Given the description of an element on the screen output the (x, y) to click on. 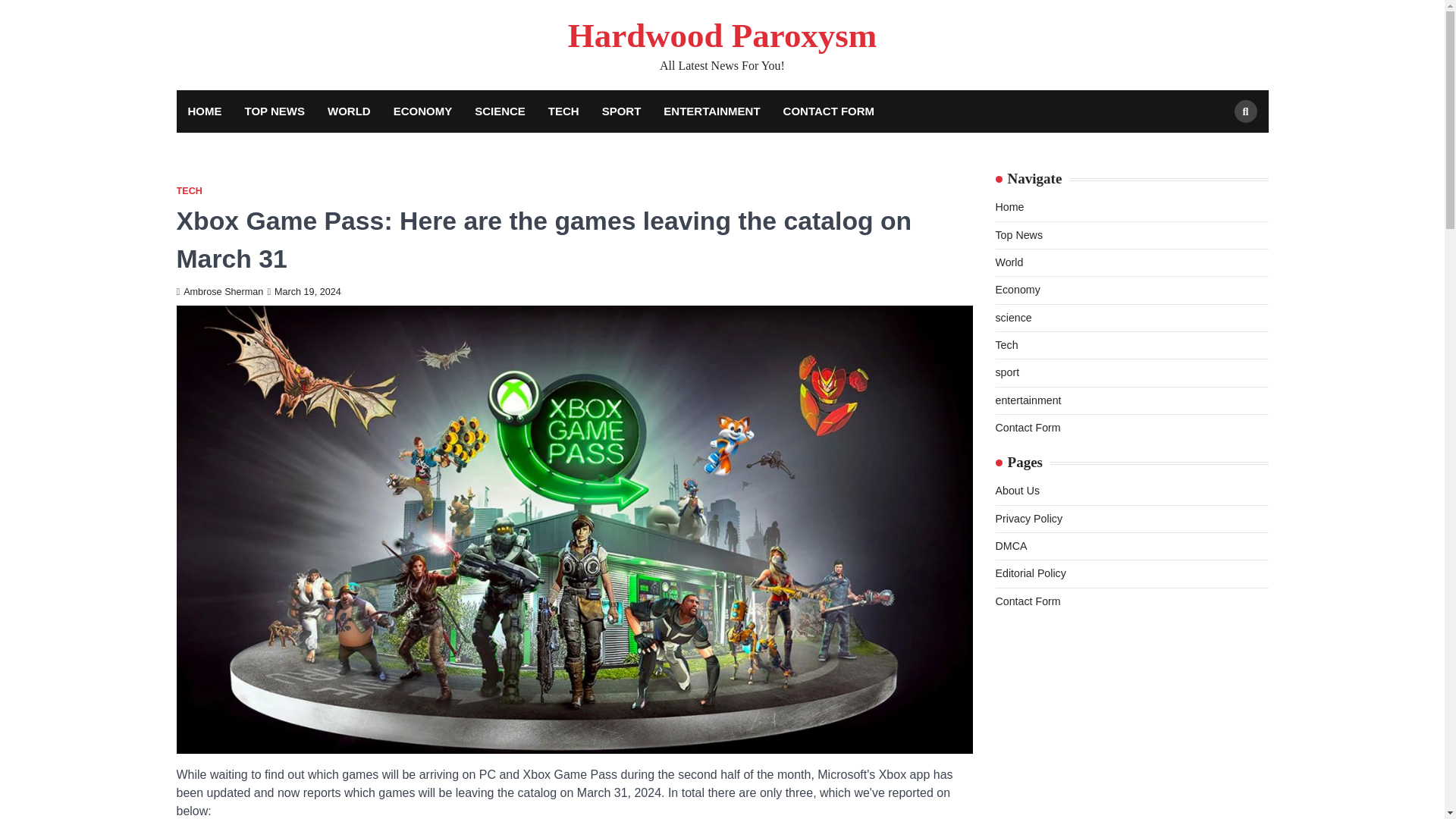
Contact Form (1026, 427)
ECONOMY (422, 111)
science (1012, 317)
About Us (1016, 490)
Privacy Policy (1028, 518)
DMCA (1010, 545)
Ambrose Sherman (219, 291)
Economy (1016, 289)
CONTACT FORM (828, 111)
TOP NEWS (273, 111)
